Given the description of an element on the screen output the (x, y) to click on. 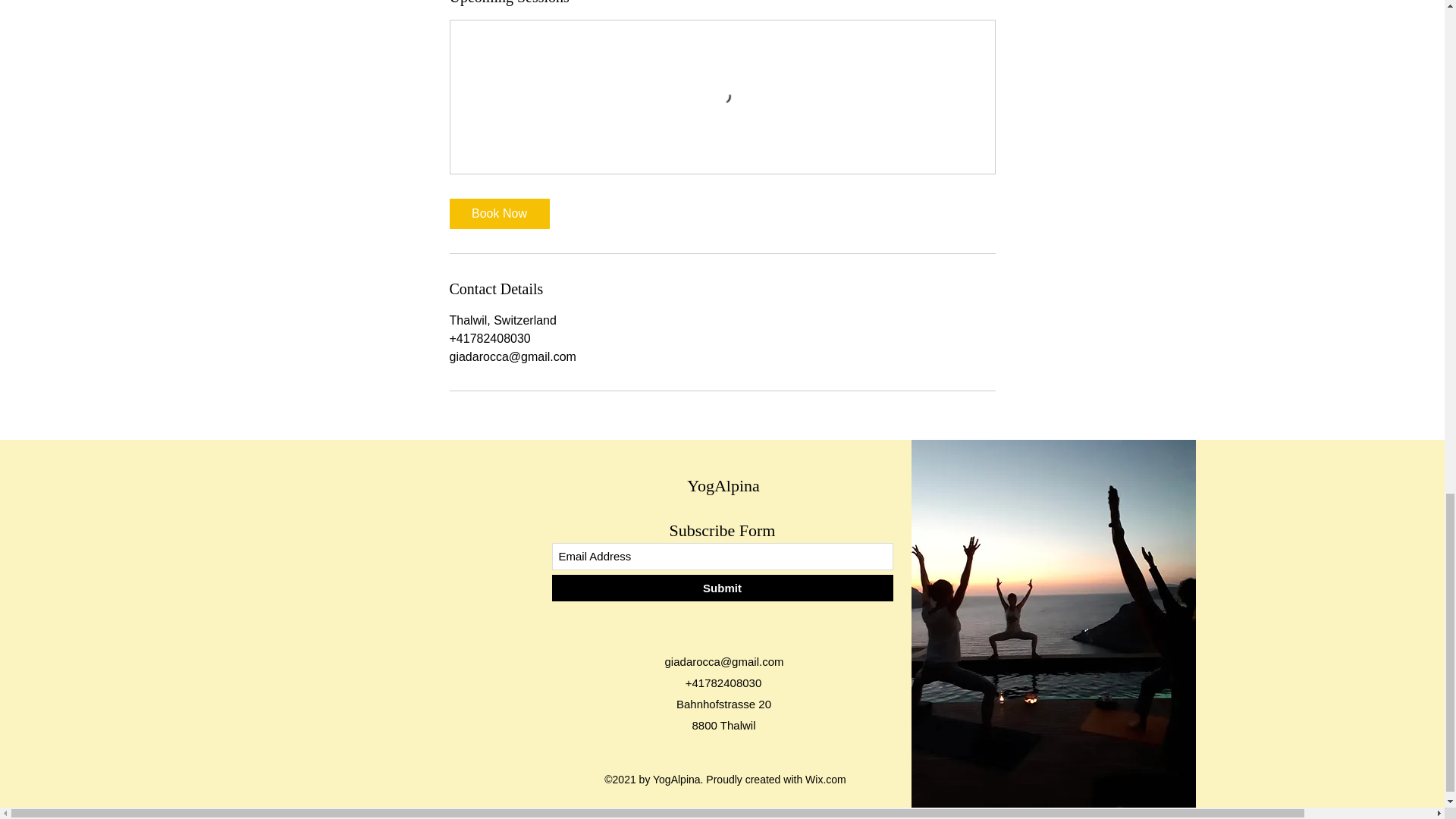
YogAlpina (723, 485)
Book Now (498, 214)
Submit (722, 587)
